Given the description of an element on the screen output the (x, y) to click on. 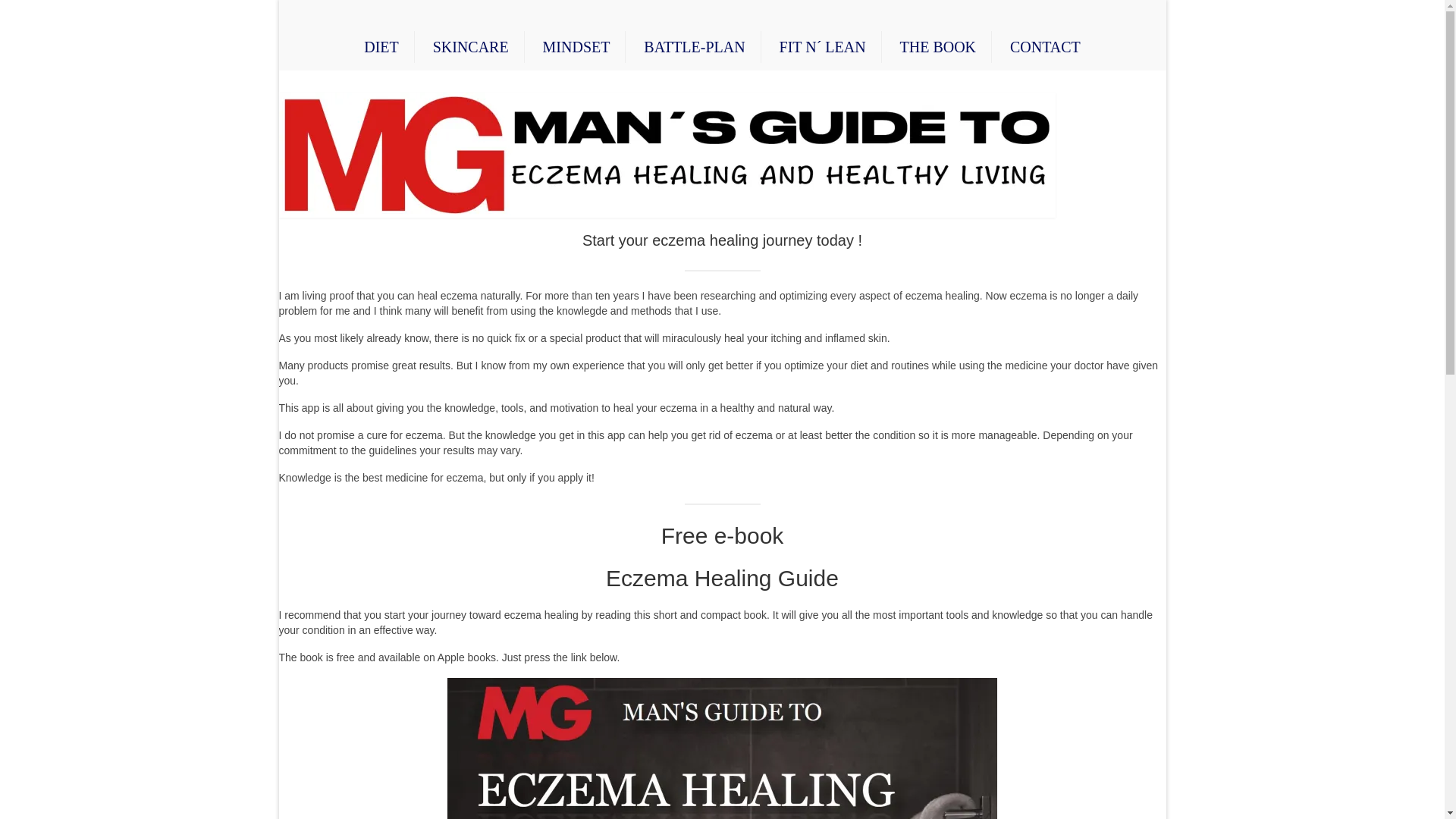
DIET (381, 47)
SKINCARE (470, 47)
THE BOOK (937, 47)
CONTACT (1045, 47)
MINDSET (576, 47)
BATTLE-PLAN (694, 47)
